Given the description of an element on the screen output the (x, y) to click on. 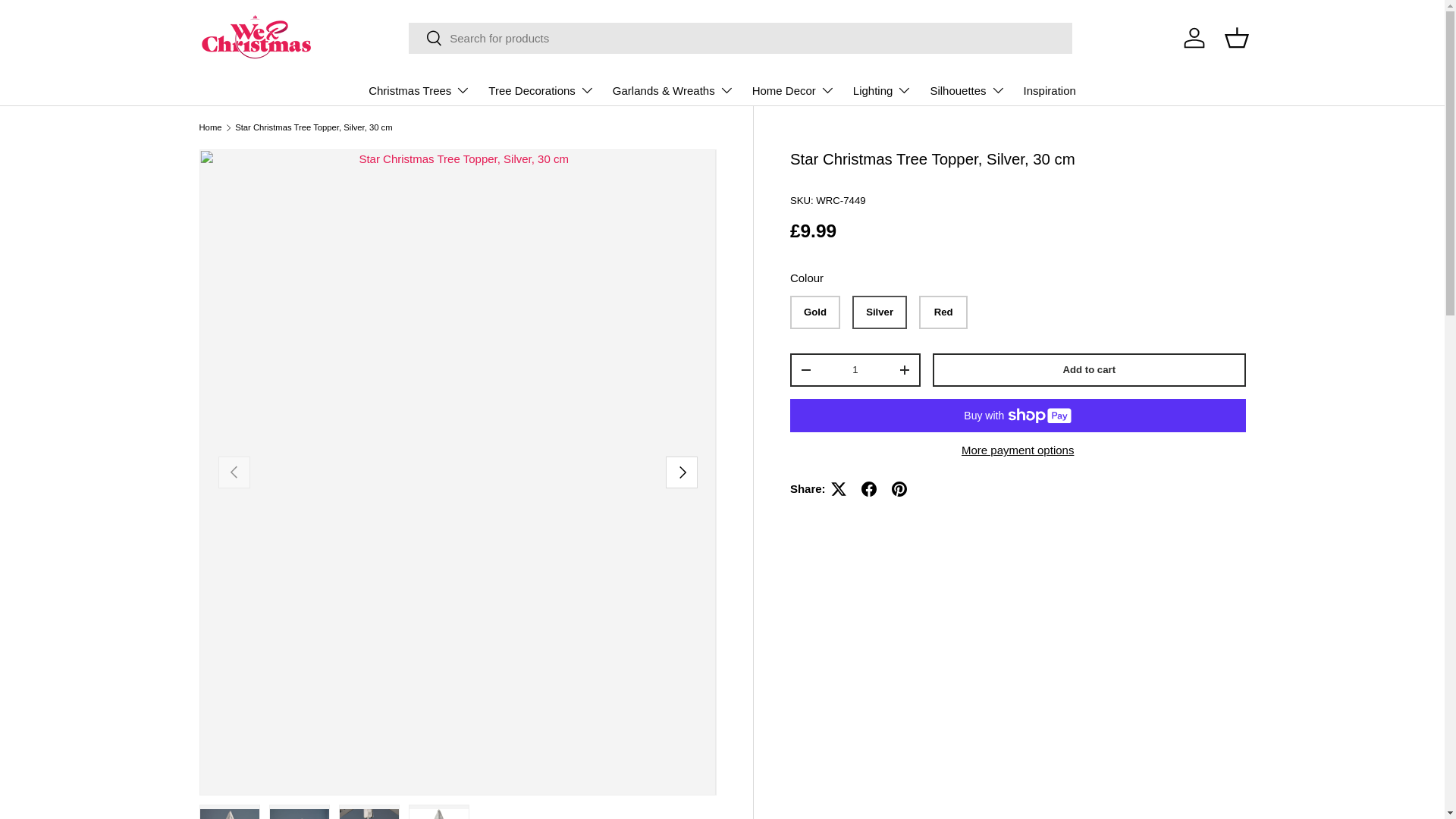
Basket (1236, 37)
Skip to content (69, 21)
Search (425, 38)
Christmas Trees (419, 90)
Tree Decorations (540, 90)
Share on Facebook (868, 489)
1 (855, 369)
Pin on Pinterest (898, 489)
Tweet on X (838, 489)
Log in (1192, 37)
